Given the description of an element on the screen output the (x, y) to click on. 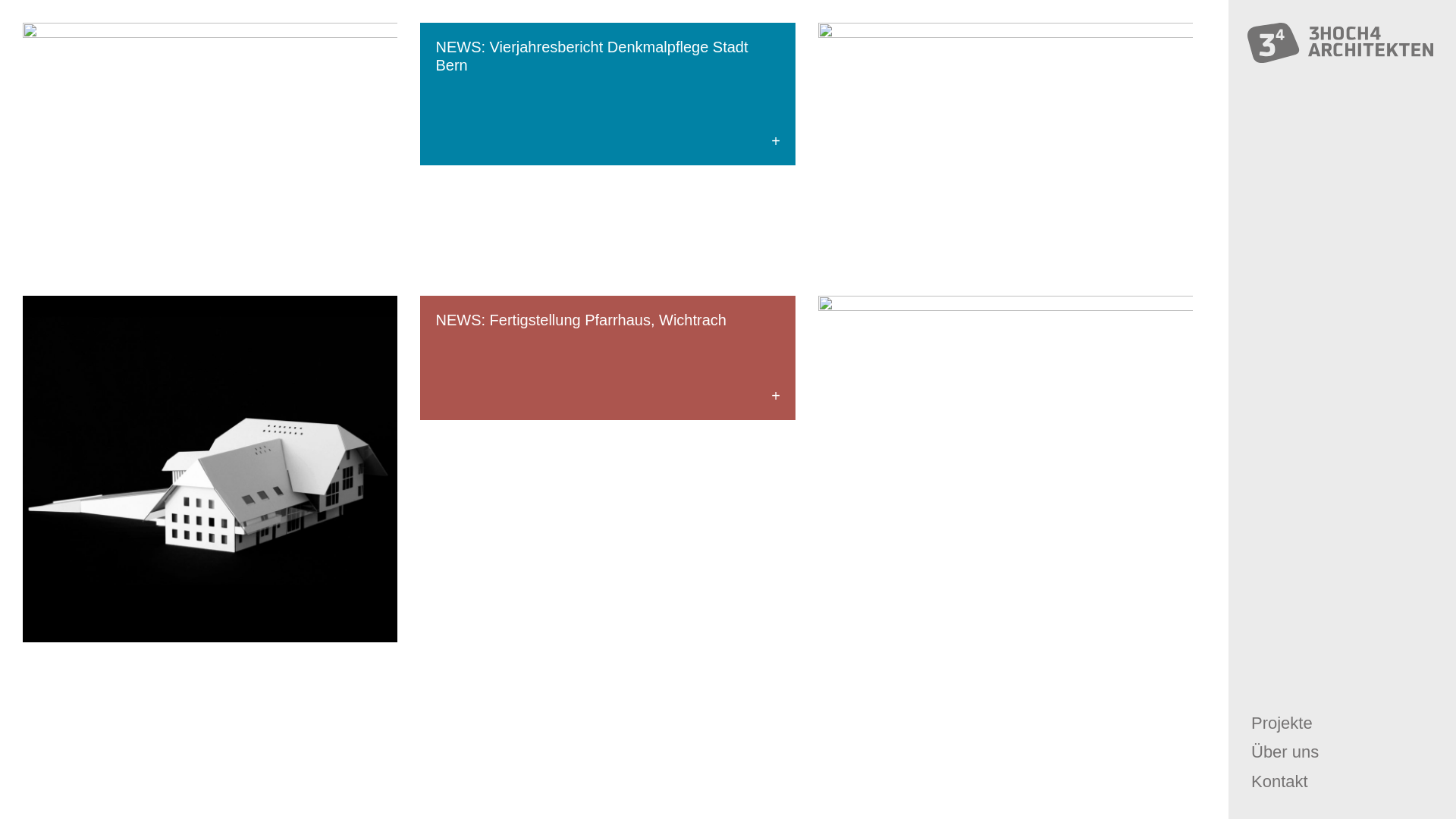
3HOCH4 ARCHITEKTEN Element type: hover (1342, 42)
Projekte Element type: text (1281, 721)
NEWS: Vierjahresbericht Denkmalpflege Stadt Bern Element type: text (607, 93)
NEWS: Fertigstellung Pfarrhaus, Wichtrach Element type: text (607, 357)
Kontakt Element type: text (1279, 780)
